Given the description of an element on the screen output the (x, y) to click on. 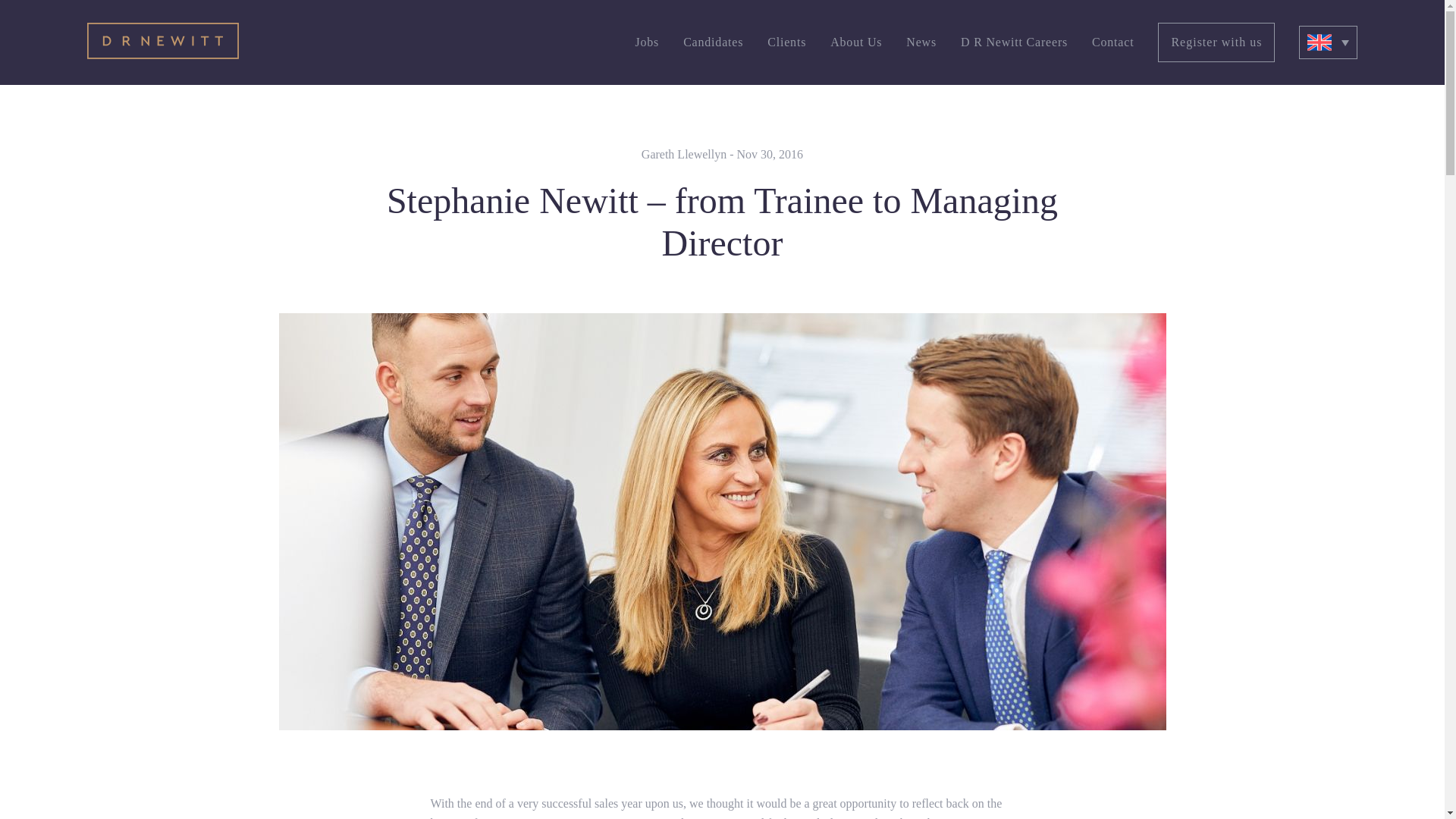
Jobs (646, 42)
Candidates (712, 42)
Giant Peach Home (162, 42)
News (920, 42)
Clients (786, 42)
About Us (855, 42)
D R Newitt Careers (1013, 42)
Contact (1113, 42)
Register with us (1216, 42)
